Given the description of an element on the screen output the (x, y) to click on. 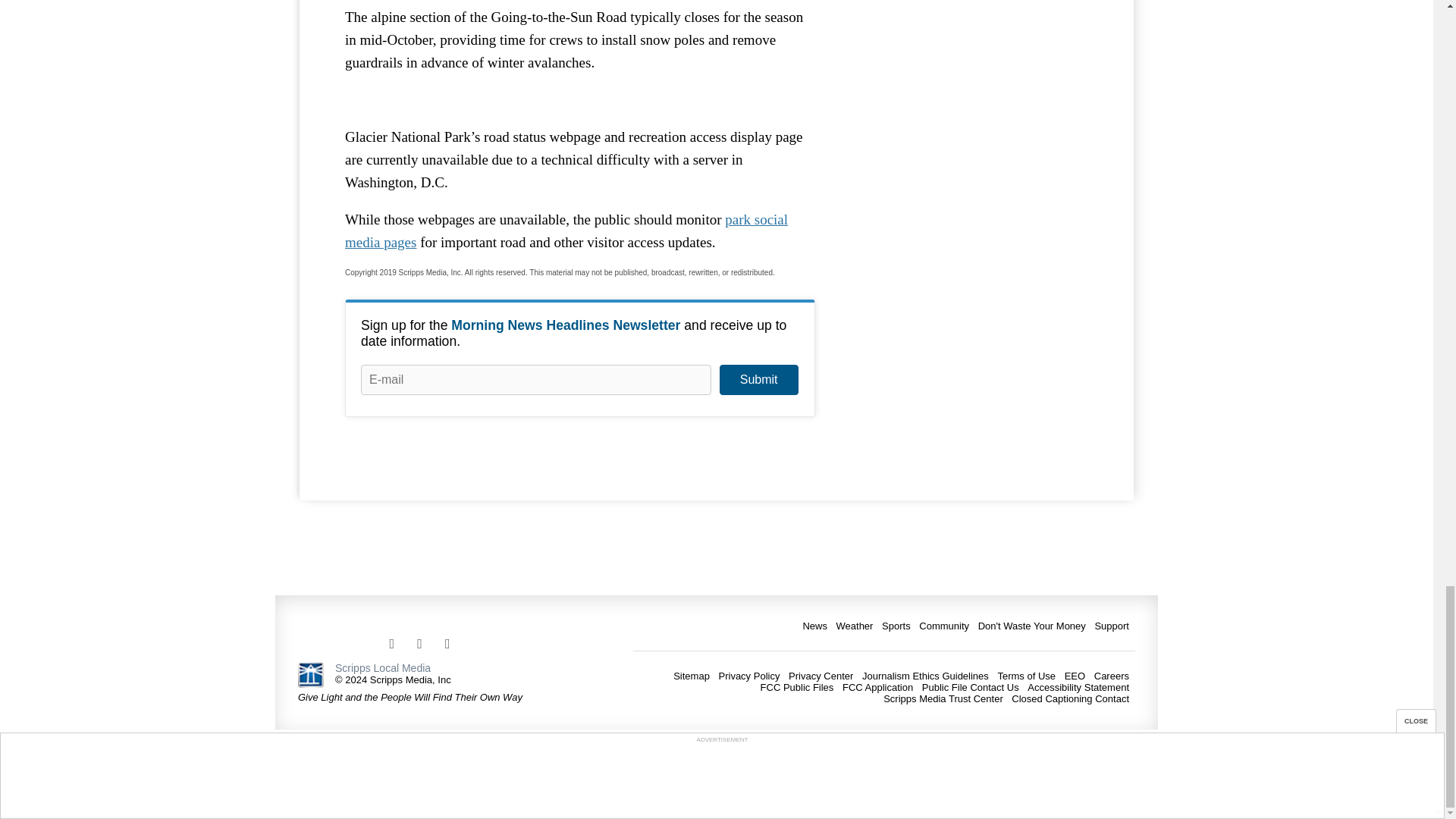
Submit (758, 379)
